Given the description of an element on the screen output the (x, y) to click on. 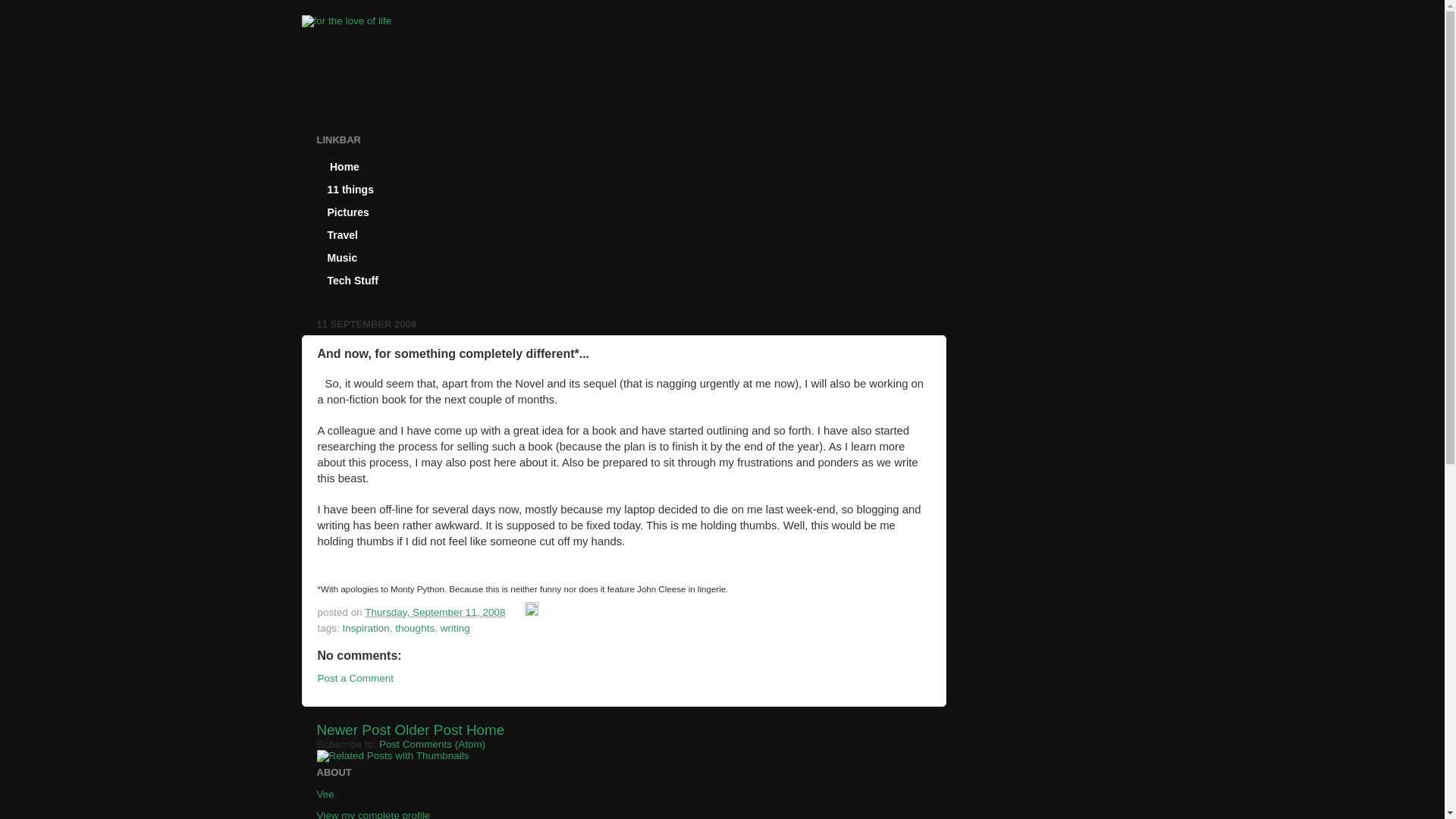
writing (455, 627)
11 things (351, 189)
Home (484, 729)
View my complete profile (373, 814)
permanent link (435, 612)
Pictures (348, 211)
Music (343, 257)
Inspiration (366, 627)
Older Post (427, 729)
Newer Post (354, 729)
Older Post (427, 729)
Post a Comment (355, 677)
Edit Post (531, 612)
Travel (343, 234)
thoughts (413, 627)
